Given the description of an element on the screen output the (x, y) to click on. 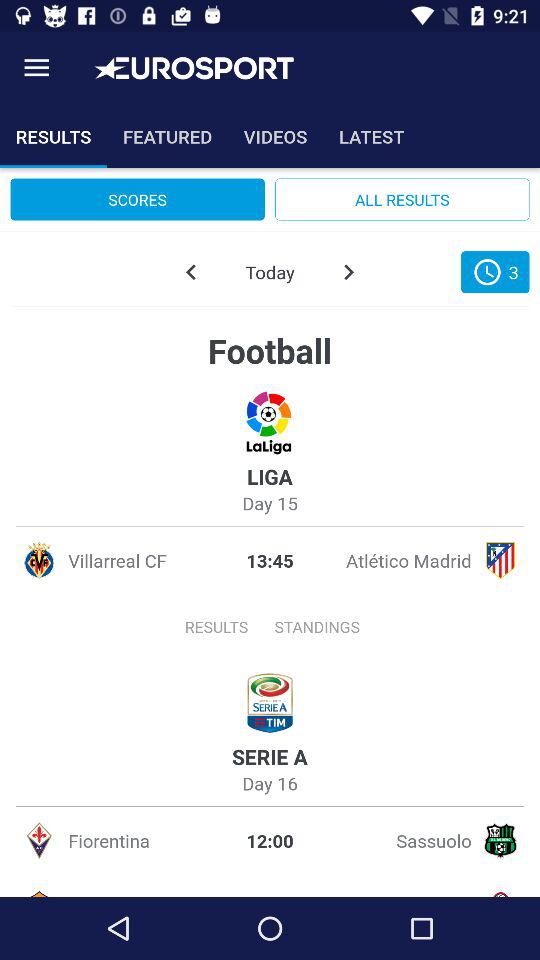
flip until the scores icon (137, 199)
